Given the description of an element on the screen output the (x, y) to click on. 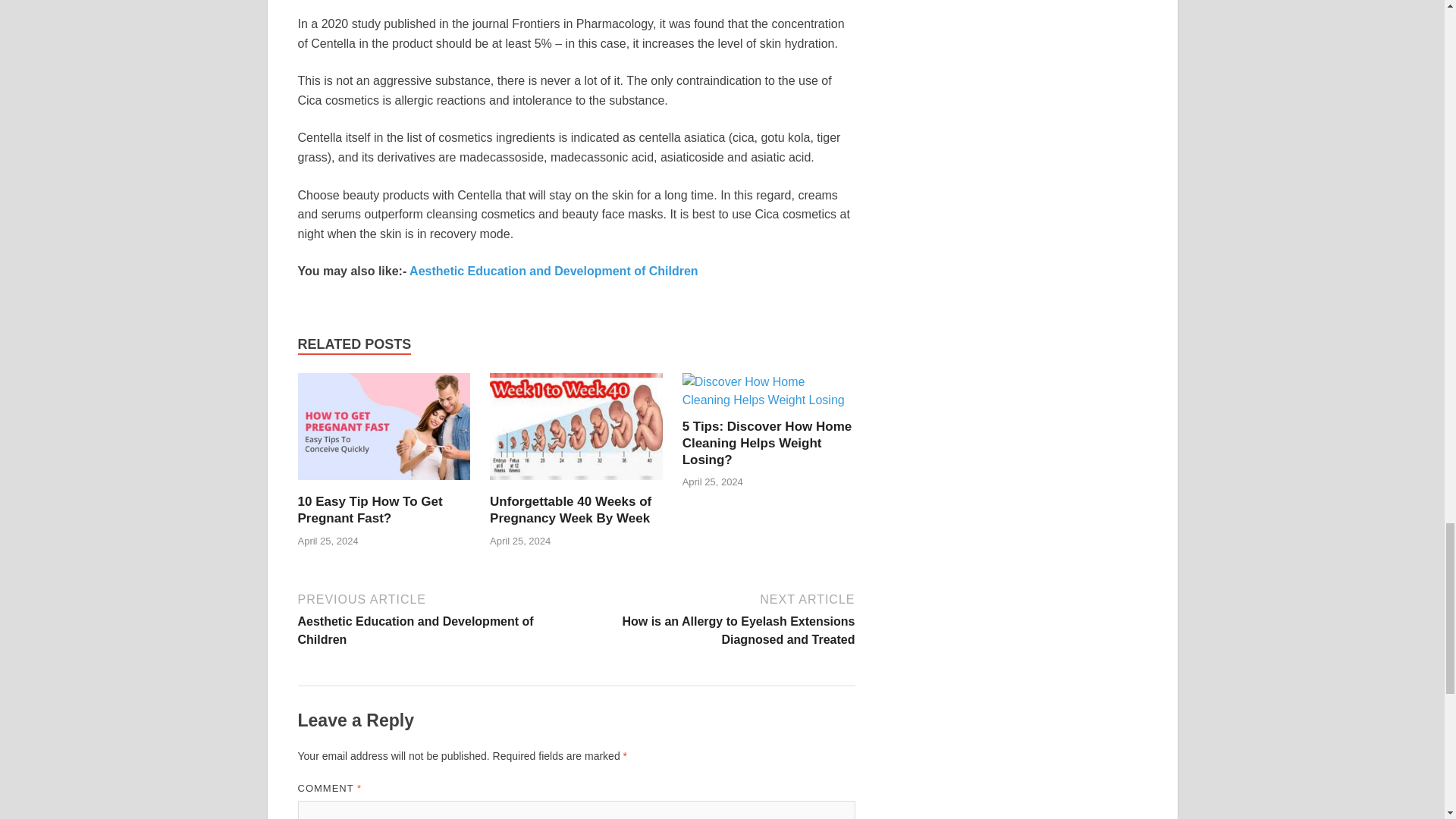
10 Easy Tip How To Get Pregnant Fast? (369, 509)
5 Tips: Discover How Home Cleaning Helps Weight Losing? (766, 442)
10 Easy Tip How To Get Pregnant Fast? (383, 483)
5 Tips: Discover How Home Cleaning Helps Weight Losing? (769, 399)
5 Tips: Discover How Home Cleaning Helps Weight Losing? (766, 442)
Unforgettable 40 Weeks of Pregnancy Week By Week (569, 509)
Unforgettable 40 Weeks of Pregnancy Week By Week (575, 483)
Aesthetic Education and Development of Children (551, 270)
